Given the description of an element on the screen output the (x, y) to click on. 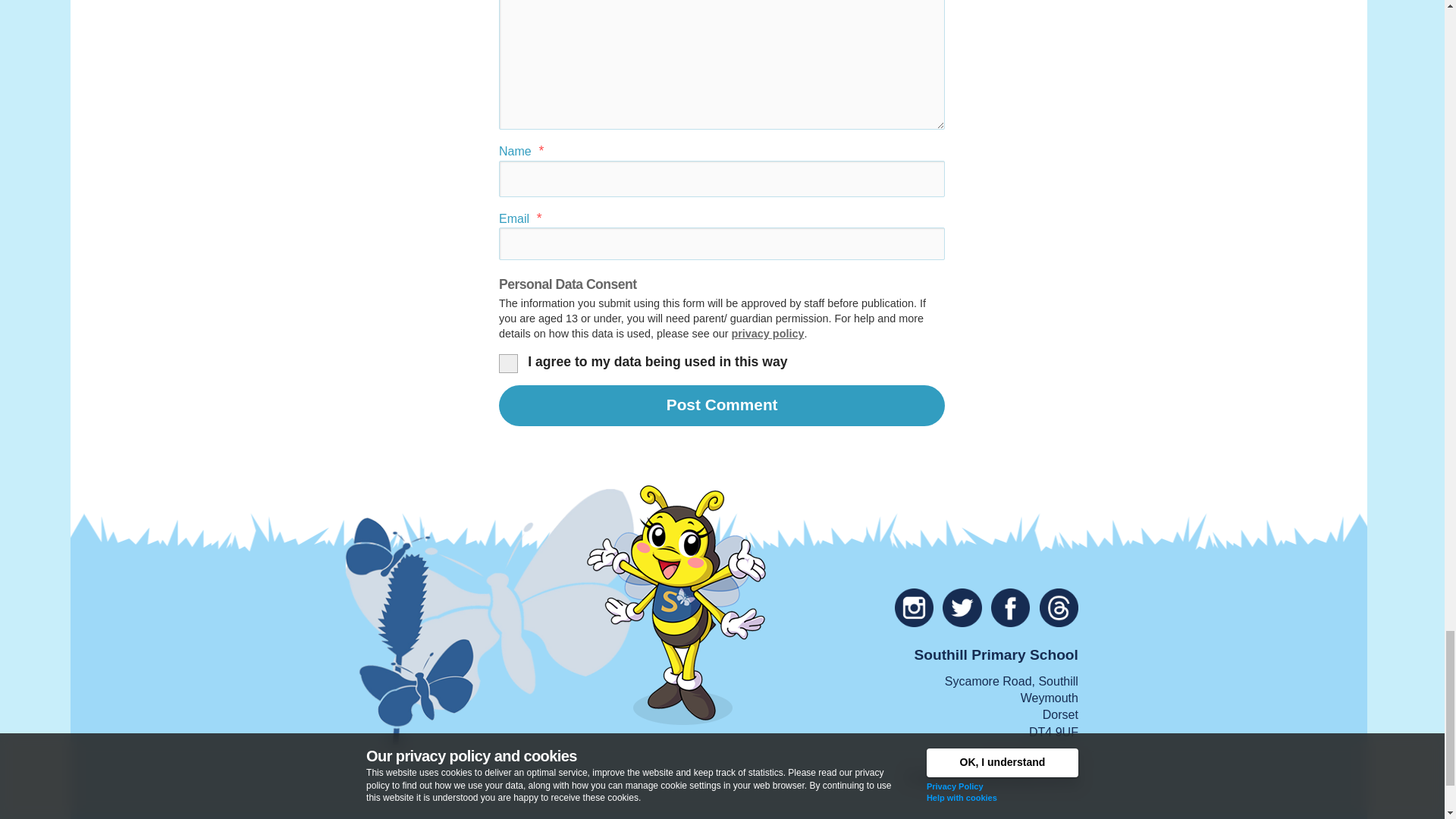
privacy policy (766, 333)
Post Comment (721, 404)
1 (507, 361)
Post Comment (721, 404)
